Given the description of an element on the screen output the (x, y) to click on. 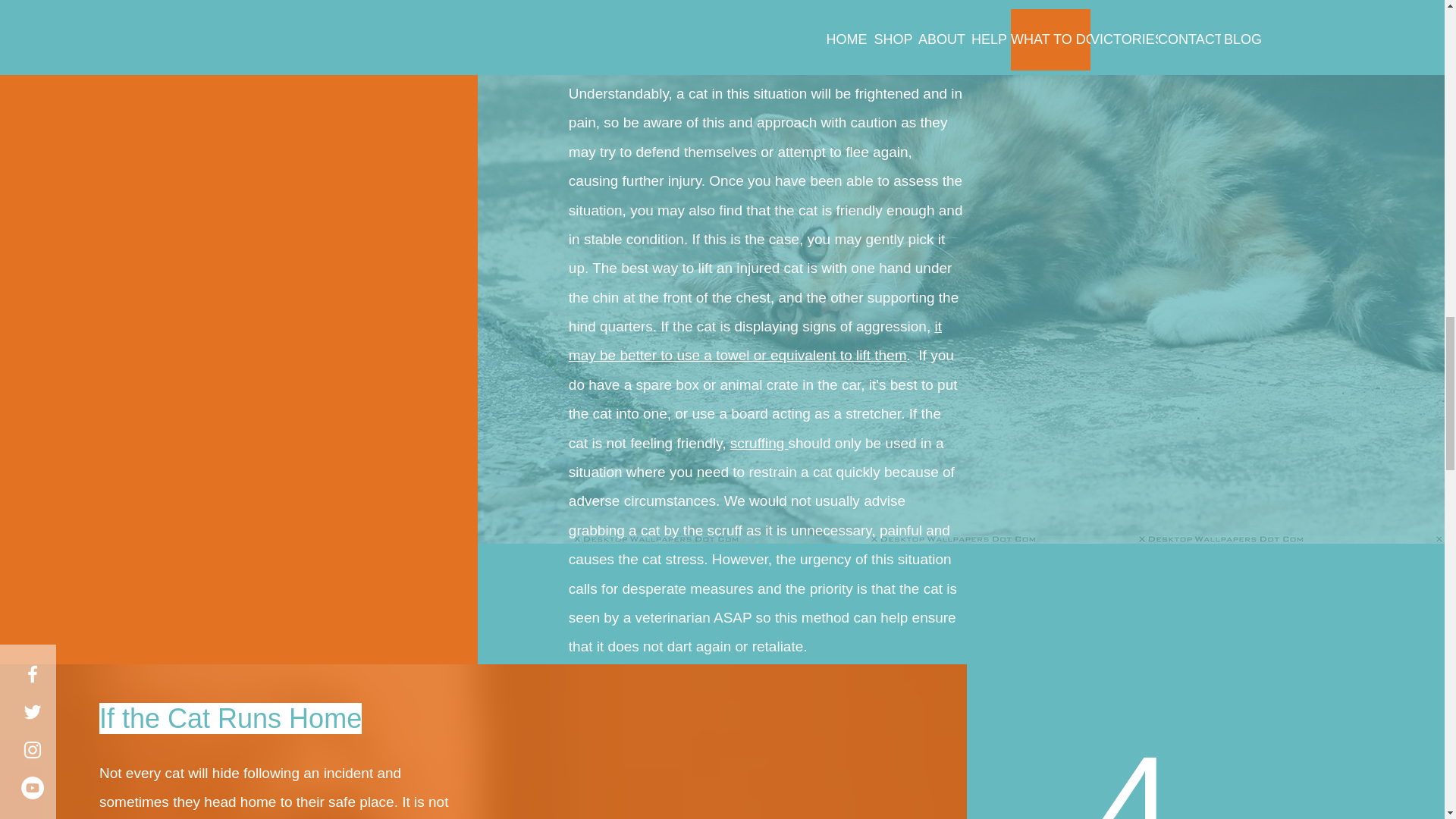
scruffing (759, 442)
it may be better to use a towel or equivalent to lift them (755, 340)
